Given the description of an element on the screen output the (x, y) to click on. 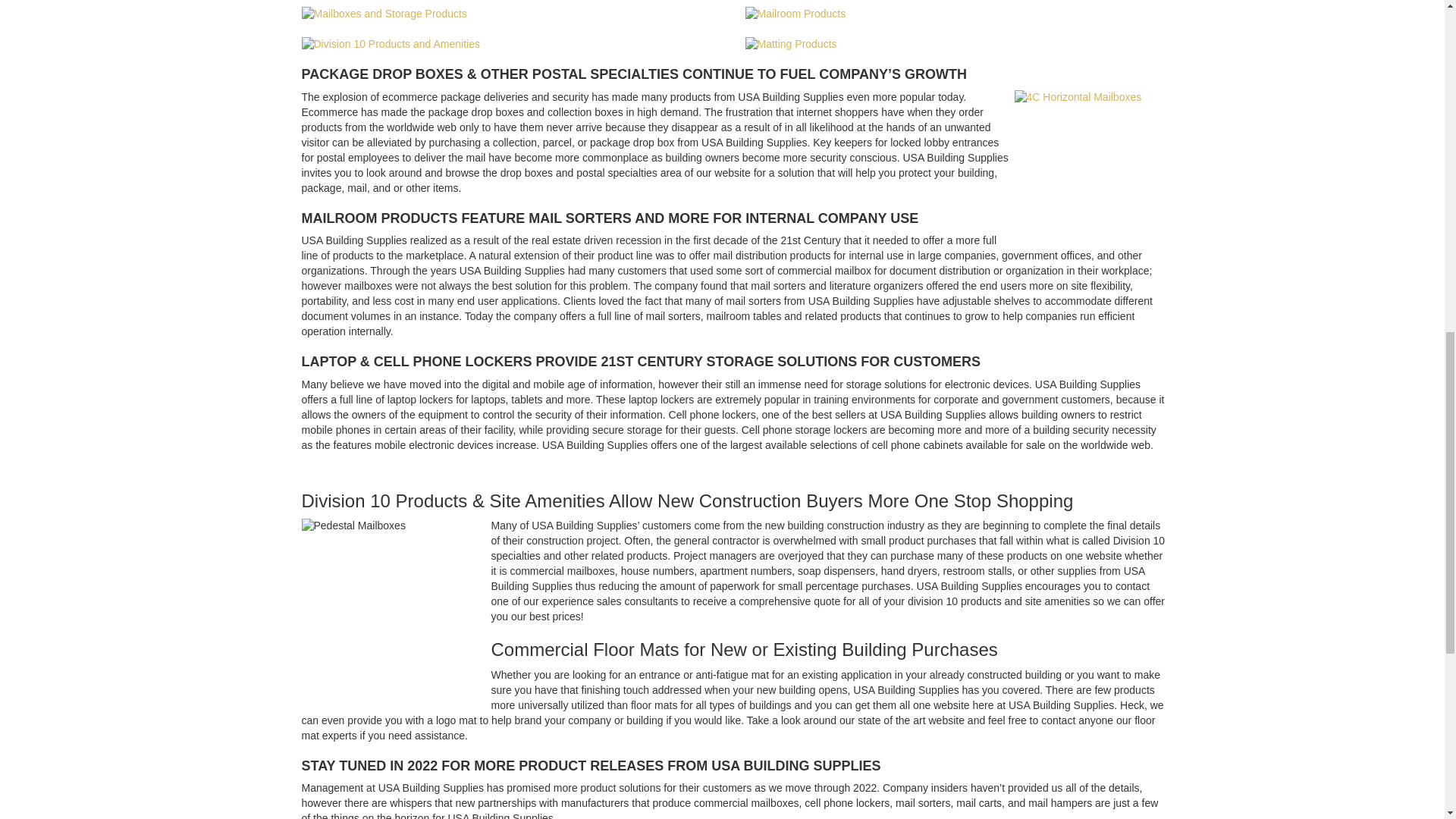
Pedestal Mailboxes for Sale Online (396, 613)
